Given the description of an element on the screen output the (x, y) to click on. 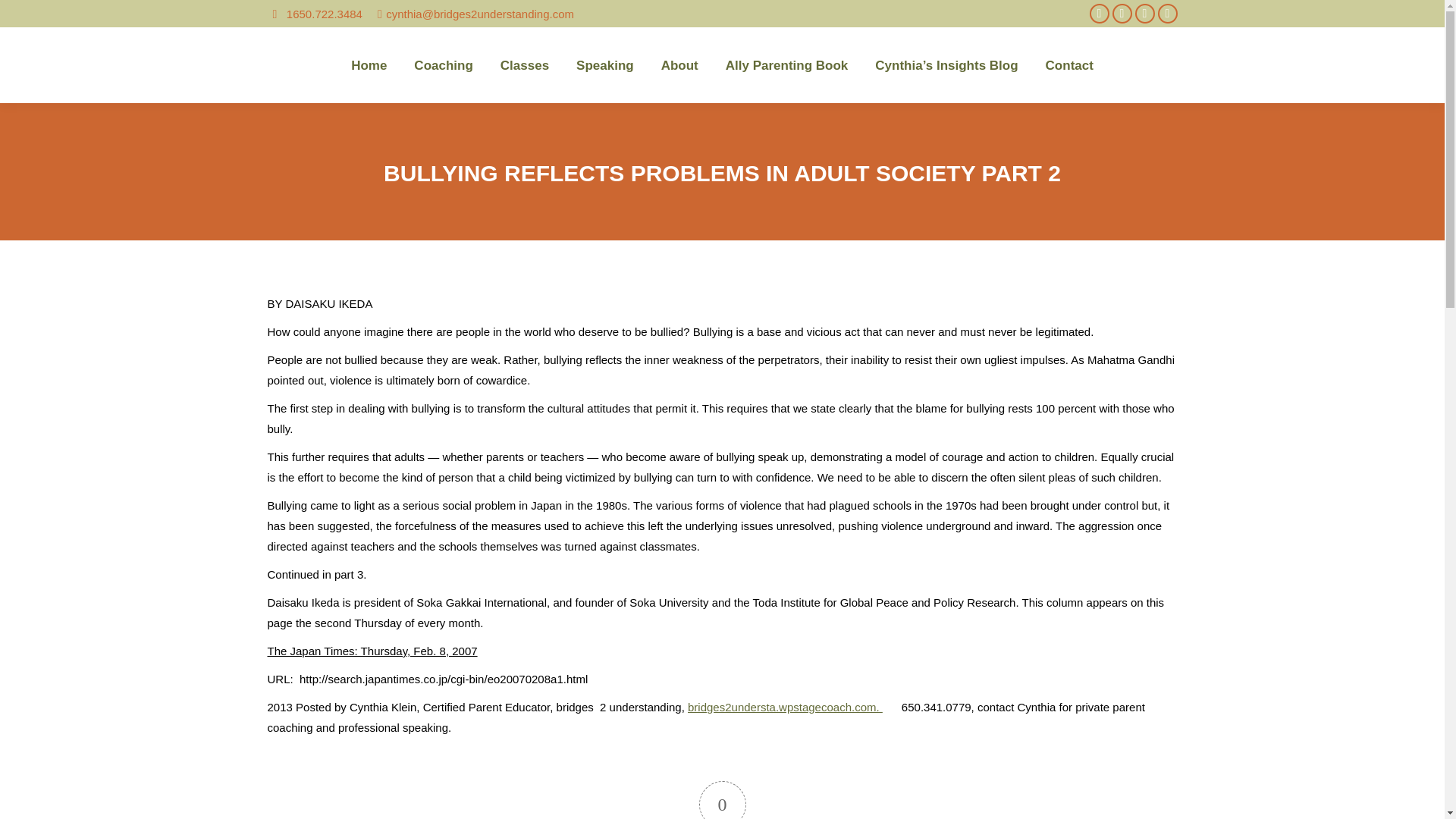
bridges2understa.wpstagecoach.com. (784, 707)
Linkedin page opens in new window (1144, 13)
Speaking (605, 64)
Coaching (443, 64)
Contact (1069, 64)
X page opens in new window (1122, 13)
1650.722.3484 (313, 13)
YouTube page opens in new window (1167, 13)
Ally Parenting Book (786, 64)
Facebook page opens in new window (1099, 13)
